Given the description of an element on the screen output the (x, y) to click on. 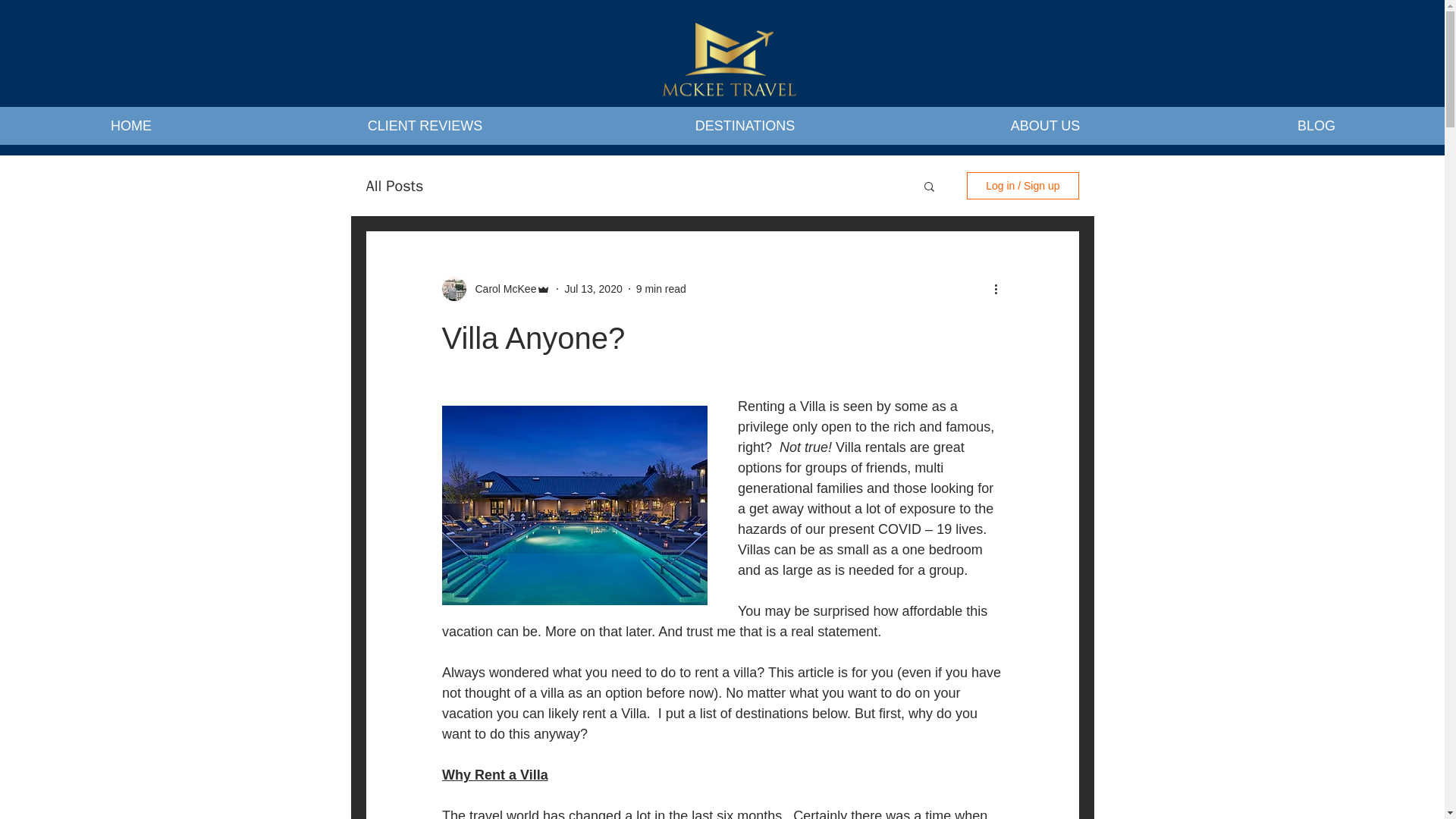
DESTINATIONS (745, 125)
ABOUT US (1045, 125)
Carol McKee (500, 288)
All Posts (394, 186)
A designed gold M interlocked with an airplane taking off (727, 64)
HOME (131, 125)
CLIENT REVIEWS (425, 125)
9 min read (660, 287)
Jul 13, 2020 (592, 287)
